Given the description of an element on the screen output the (x, y) to click on. 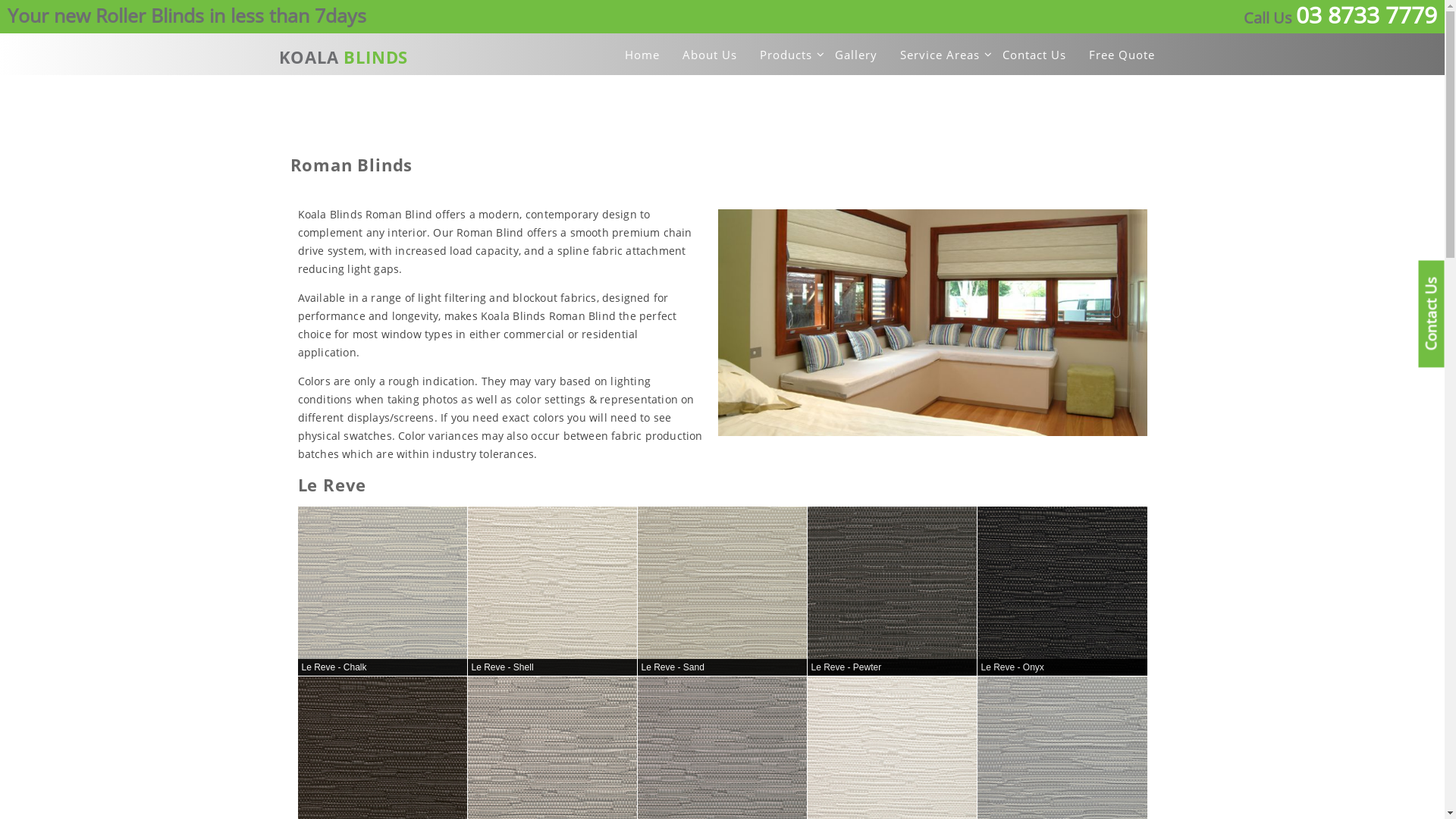
Home Element type: text (641, 54)
Le Reve - Chalk Element type: hover (381, 591)
Le Reve - Pewter Element type: hover (890, 591)
About Us Element type: text (709, 54)
Products Element type: text (785, 54)
Le Reve - Onyx Element type: hover (1061, 591)
Contact Us Element type: text (1034, 54)
KOALA BLINDS Element type: text (412, 57)
Free Quote Element type: text (1121, 54)
Le Reve - Shell Element type: hover (551, 591)
Gallery Element type: text (855, 54)
Le Reve - Sand Element type: hover (721, 591)
Service Areas Element type: text (939, 54)
